Given the description of an element on the screen output the (x, y) to click on. 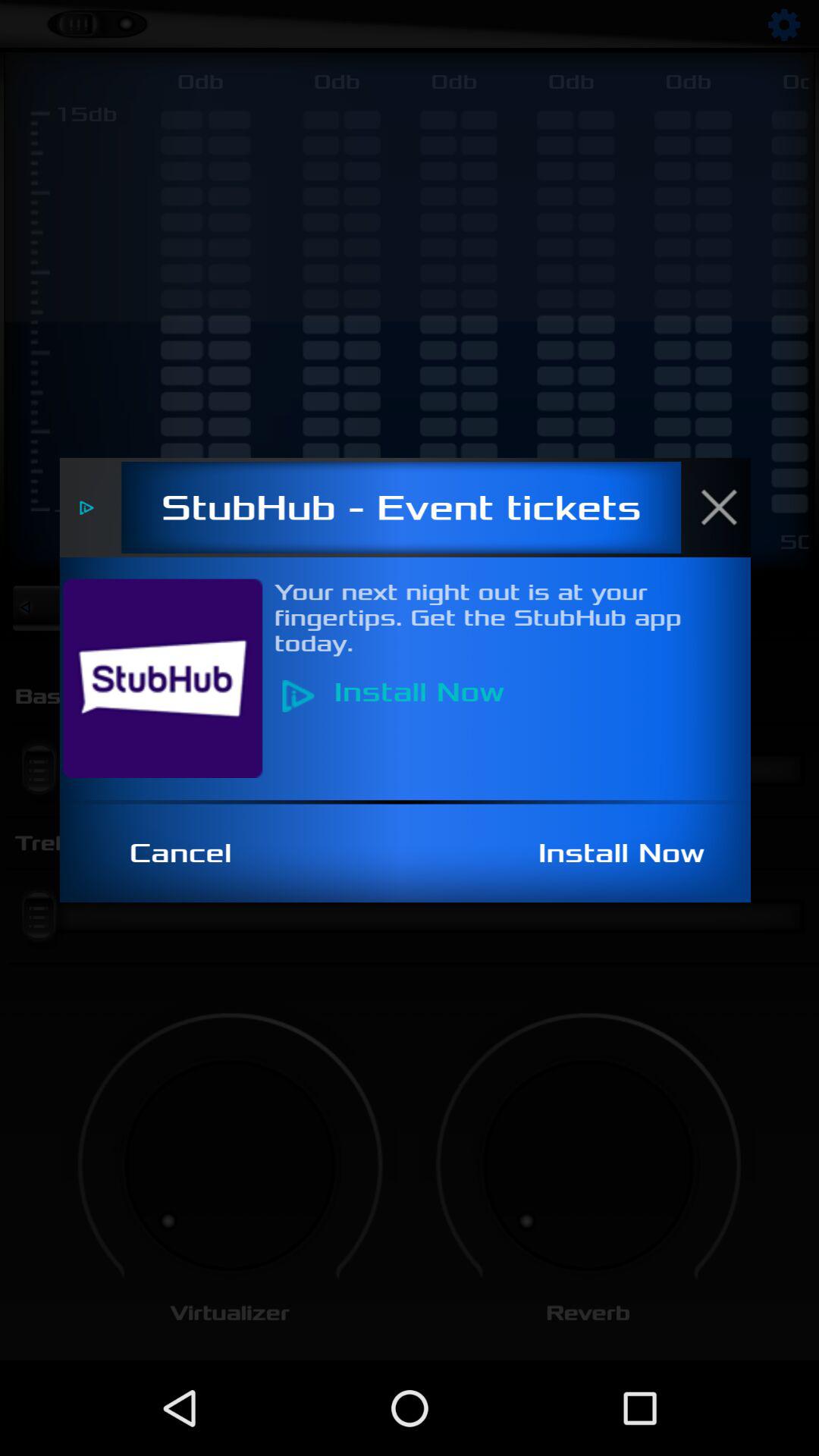
exit (727, 507)
